Given the description of an element on the screen output the (x, y) to click on. 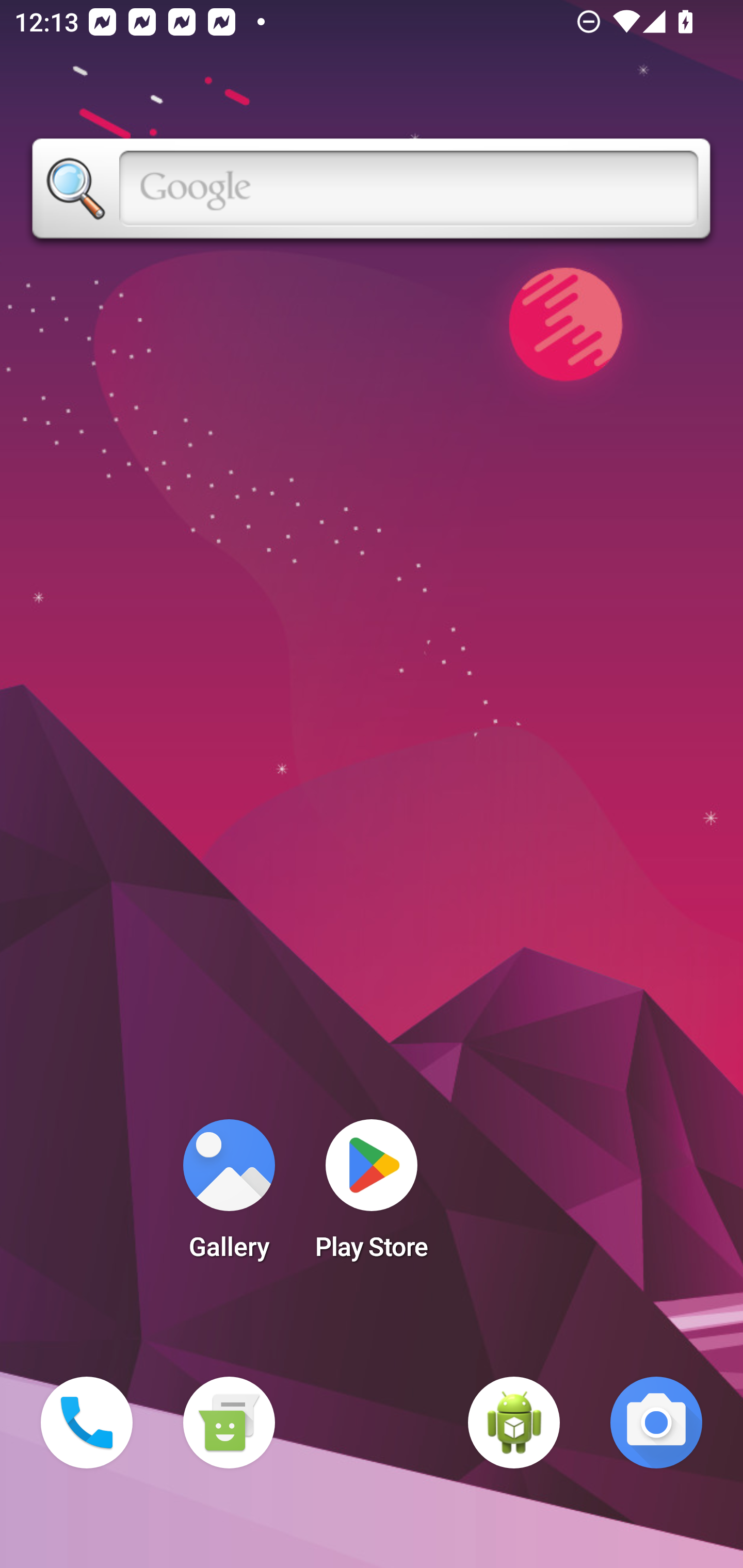
Gallery (228, 1195)
Play Store (371, 1195)
Phone (86, 1422)
Messaging (228, 1422)
WebView Browser Tester (513, 1422)
Camera (656, 1422)
